Given the description of an element on the screen output the (x, y) to click on. 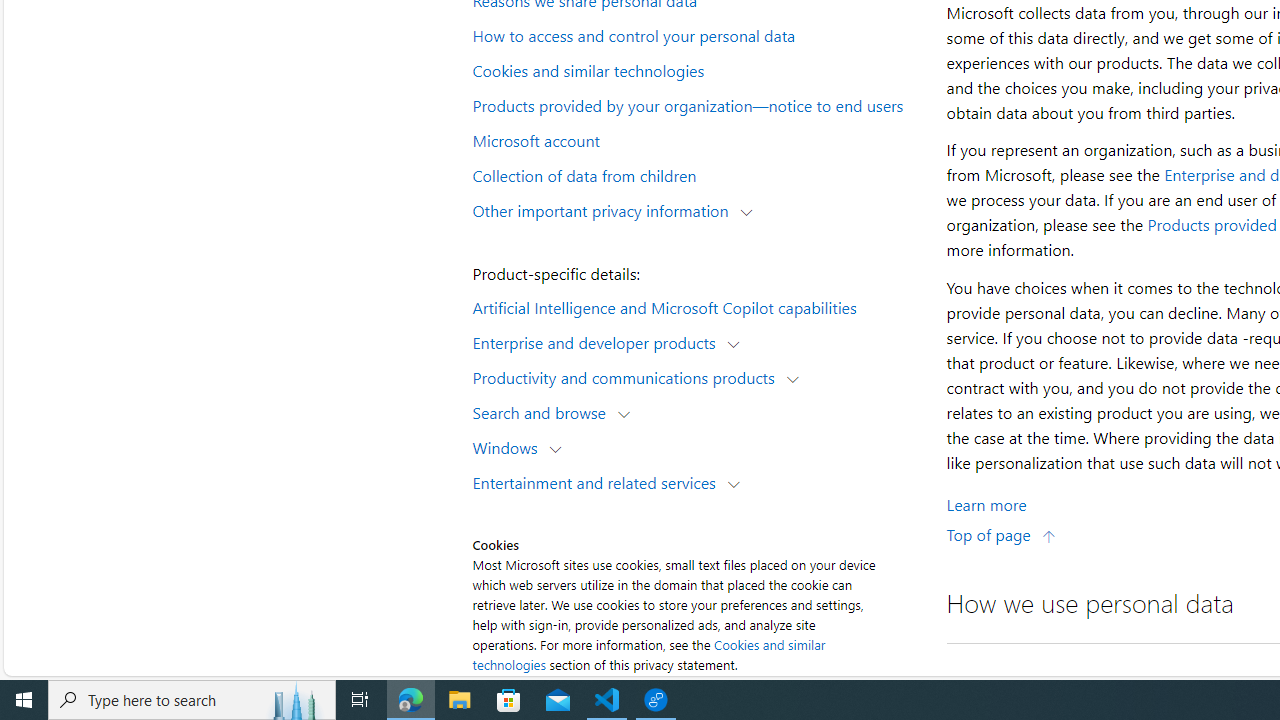
Artificial Intelligence and Microsoft Copilot capabilities (696, 306)
